Given the description of an element on the screen output the (x, y) to click on. 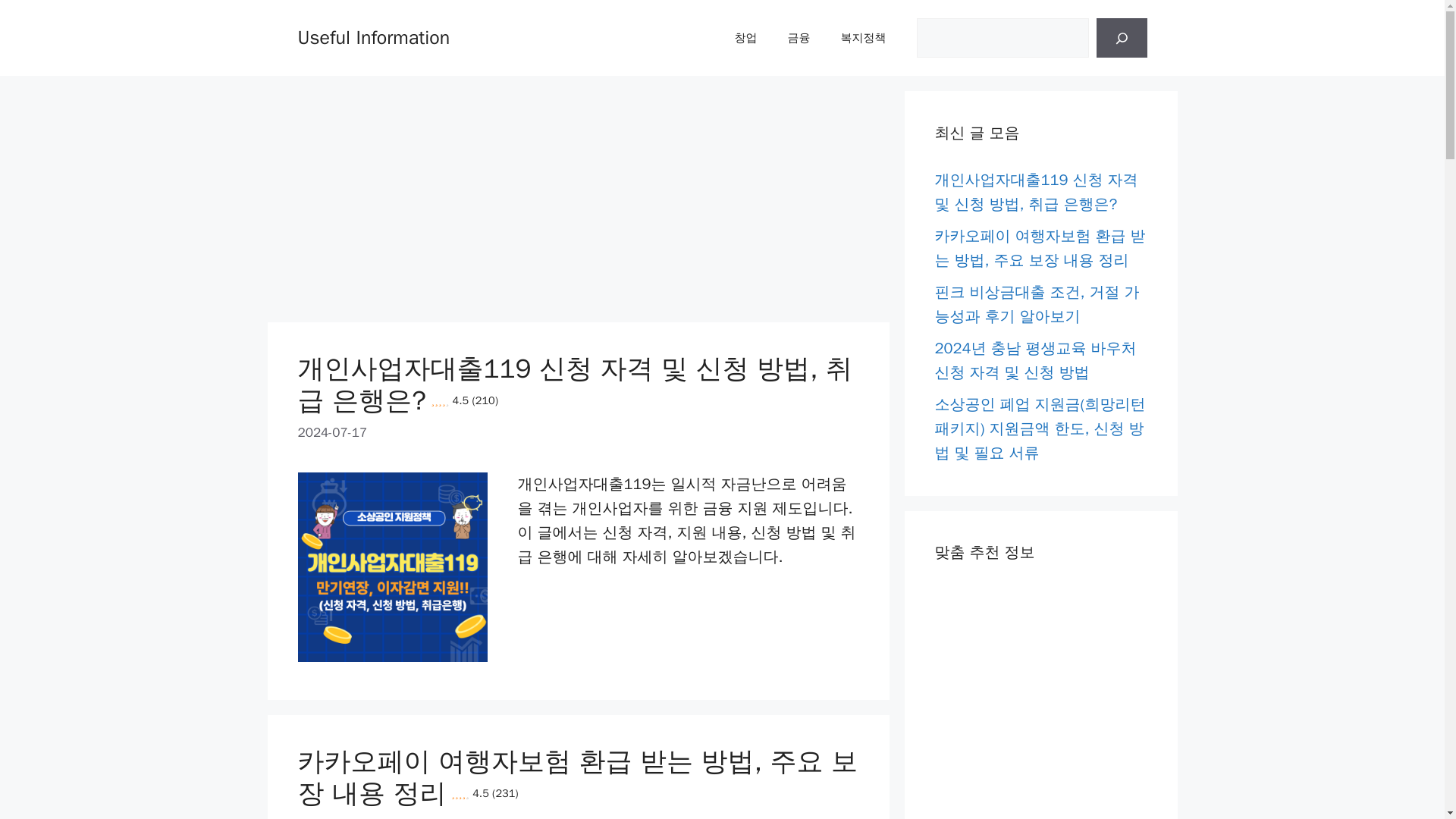
Advertisement (1040, 703)
Advertisement (441, 196)
Advertisement (715, 196)
Useful Information (373, 37)
